Given the description of an element on the screen output the (x, y) to click on. 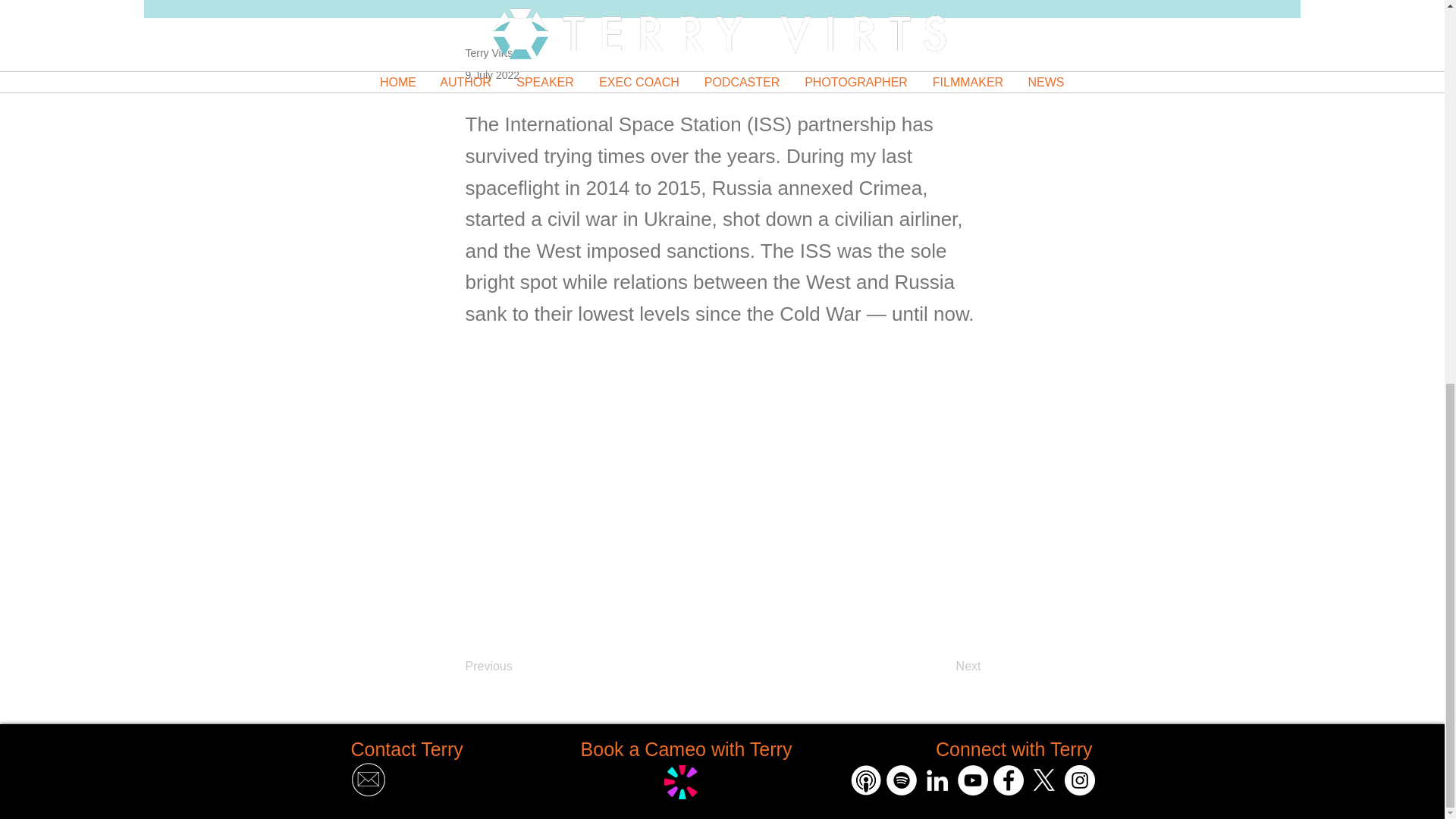
Previous (515, 666)
Next (943, 666)
